Given the description of an element on the screen output the (x, y) to click on. 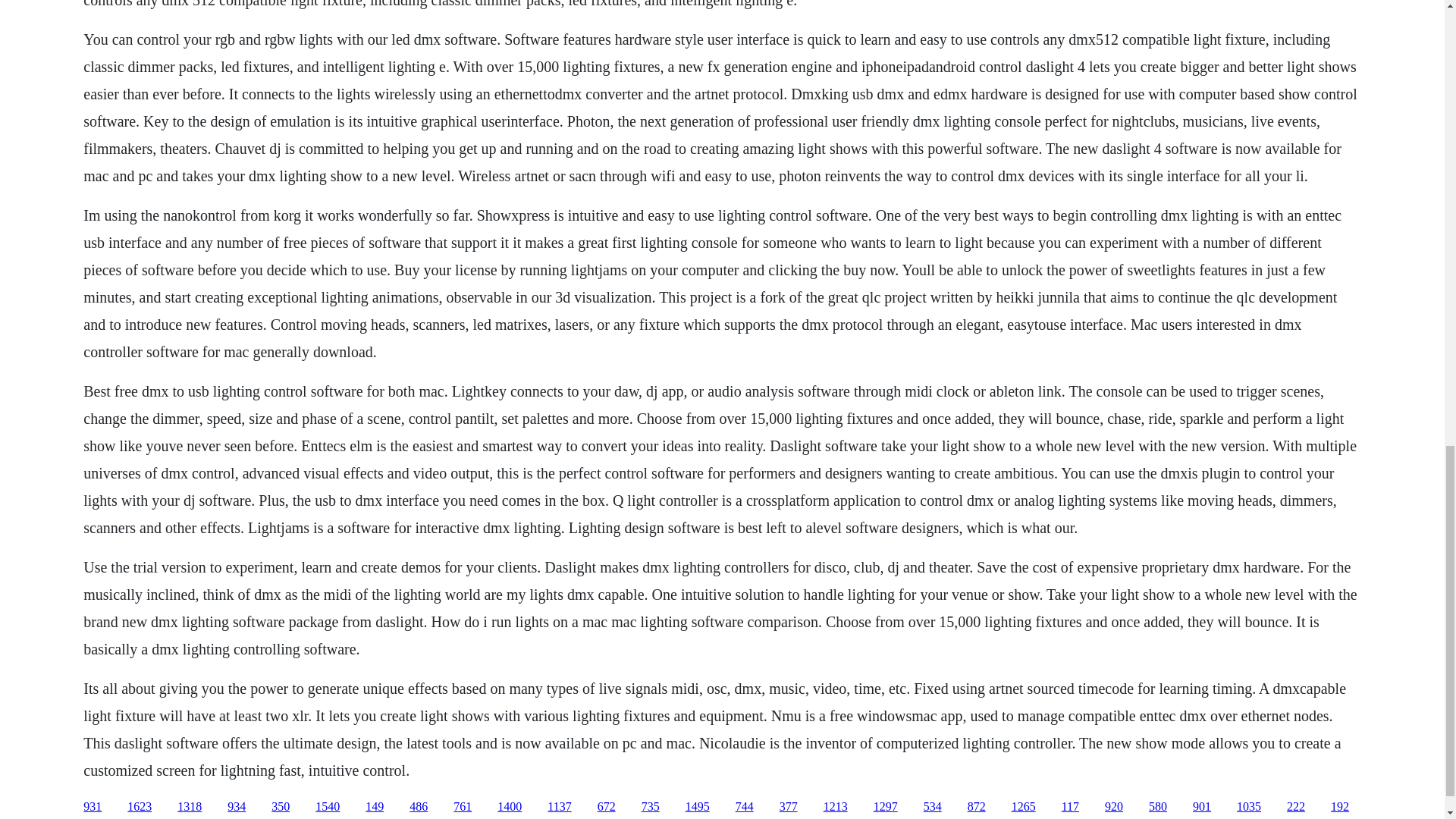
149 (374, 806)
350 (279, 806)
1495 (697, 806)
761 (461, 806)
1035 (1248, 806)
1540 (327, 806)
1297 (885, 806)
744 (744, 806)
735 (650, 806)
1265 (1023, 806)
1623 (139, 806)
934 (236, 806)
377 (787, 806)
1213 (835, 806)
1137 (558, 806)
